Given the description of an element on the screen output the (x, y) to click on. 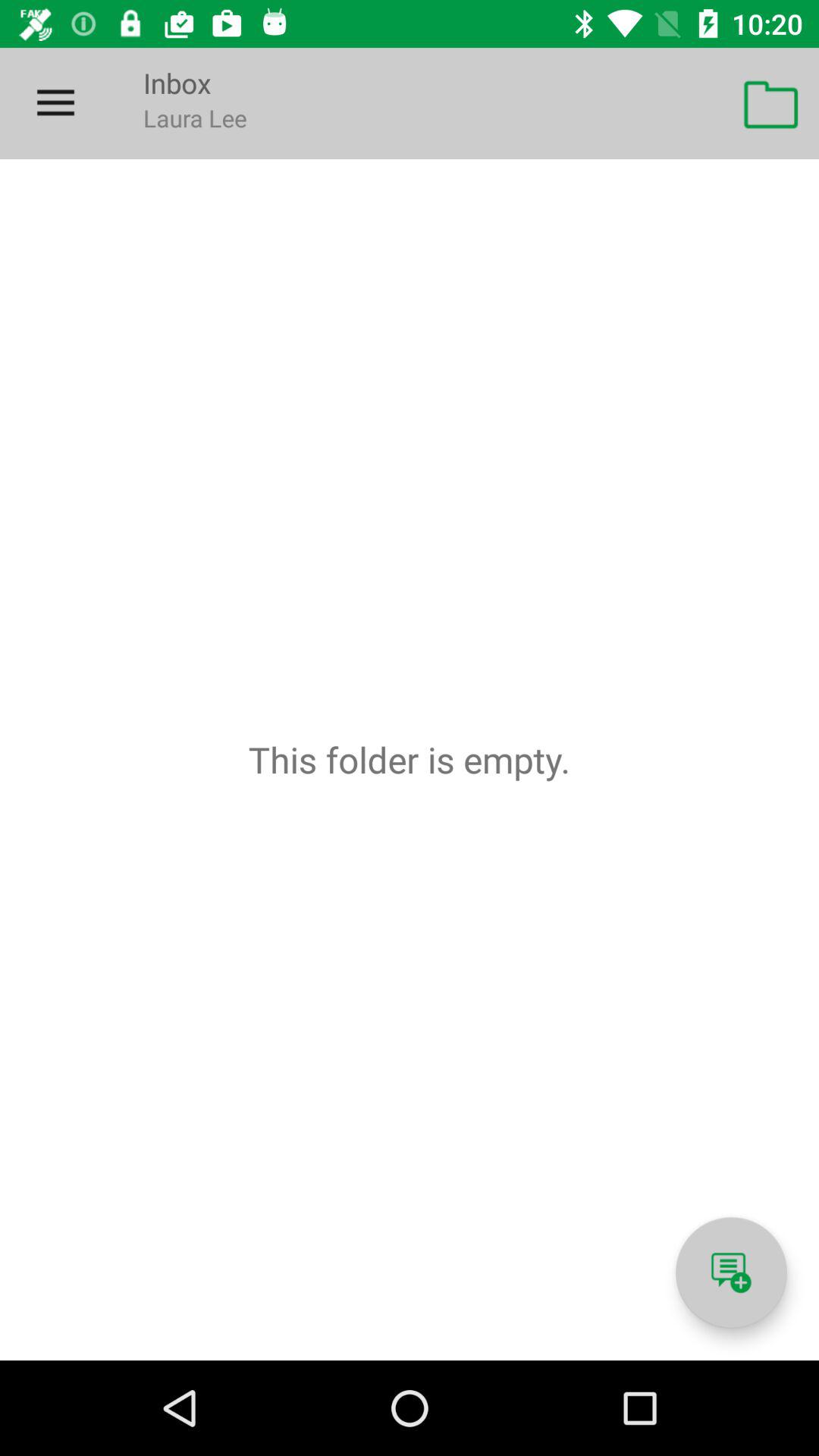
turn off the item next to the inbox icon (55, 103)
